Given the description of an element on the screen output the (x, y) to click on. 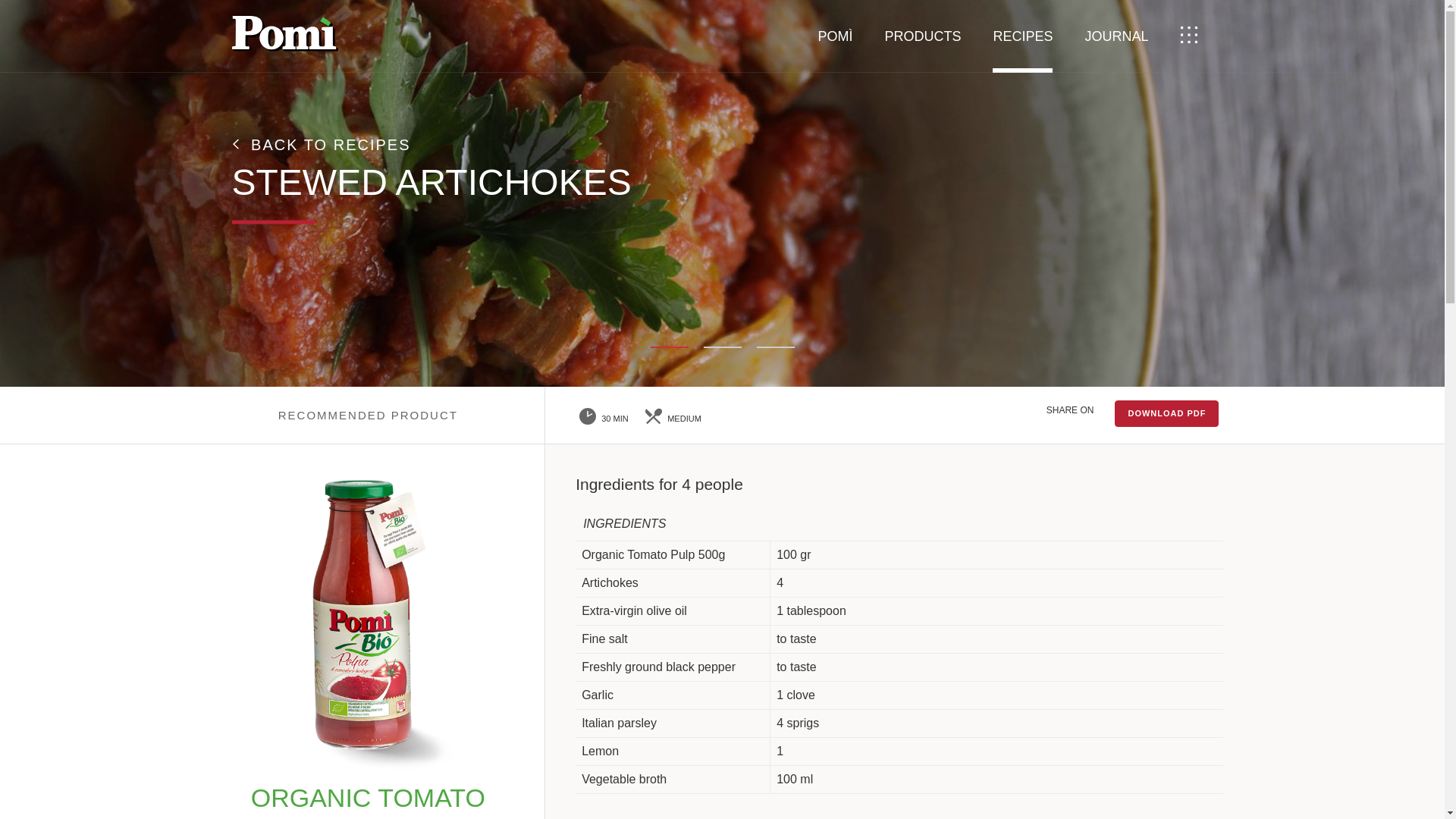
2 (722, 347)
BACK TO RECIPES (320, 144)
JOURNAL (1115, 36)
1 (669, 347)
3 (775, 347)
PRODUCTS (921, 36)
RECIPES (1022, 36)
DOWNLOAD PDF (1166, 413)
